Given the description of an element on the screen output the (x, y) to click on. 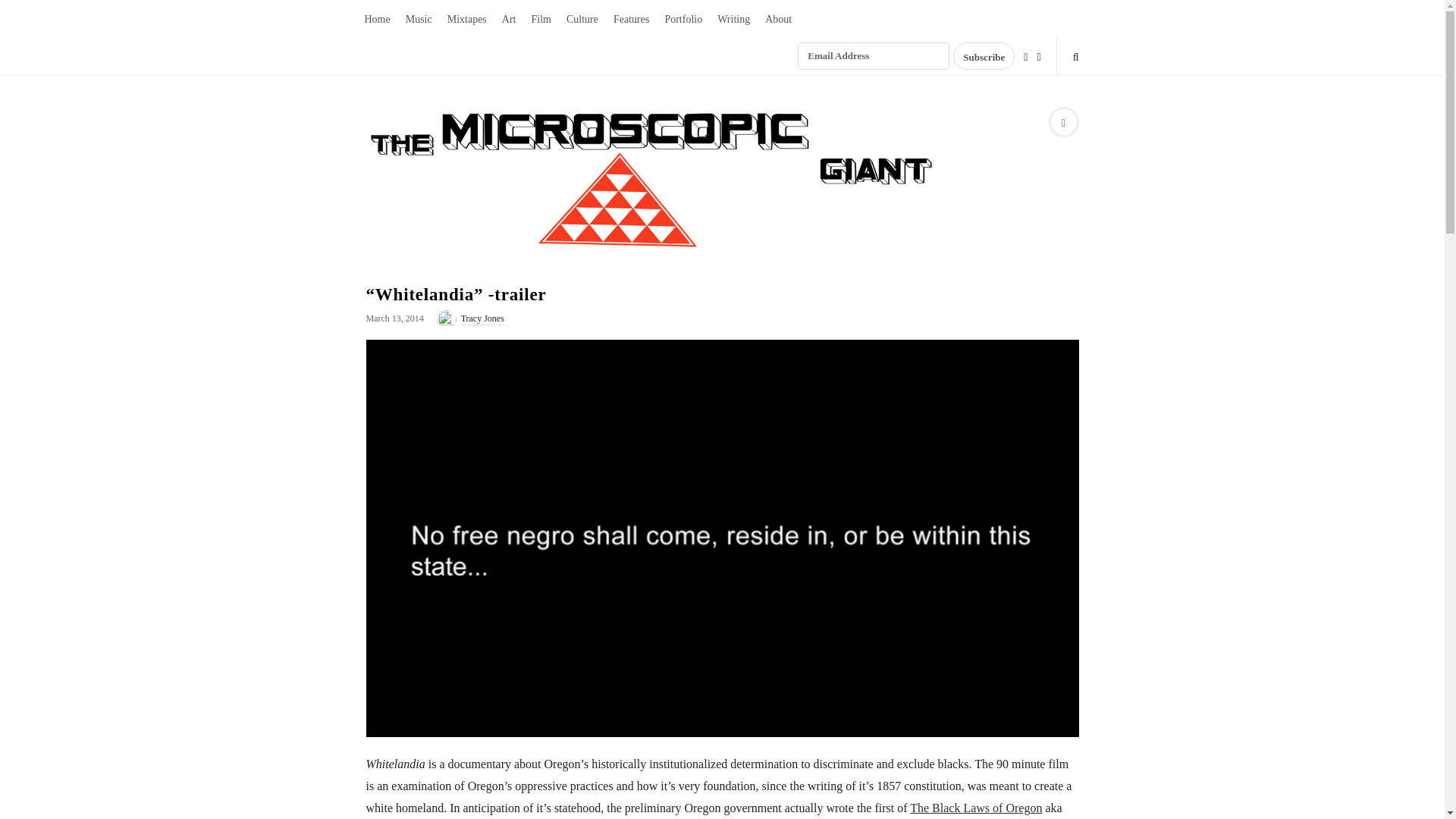
About (778, 18)
Film (539, 18)
Tracy Jones (482, 318)
Subscribe (983, 55)
Home (376, 18)
Features (630, 18)
The Black Laws of Oregon (976, 807)
Music (418, 18)
Subscribe (983, 55)
Email Address (873, 55)
Culture (582, 18)
Portfolio (683, 18)
Mixtapes (467, 18)
Writing (733, 18)
